Given the description of an element on the screen output the (x, y) to click on. 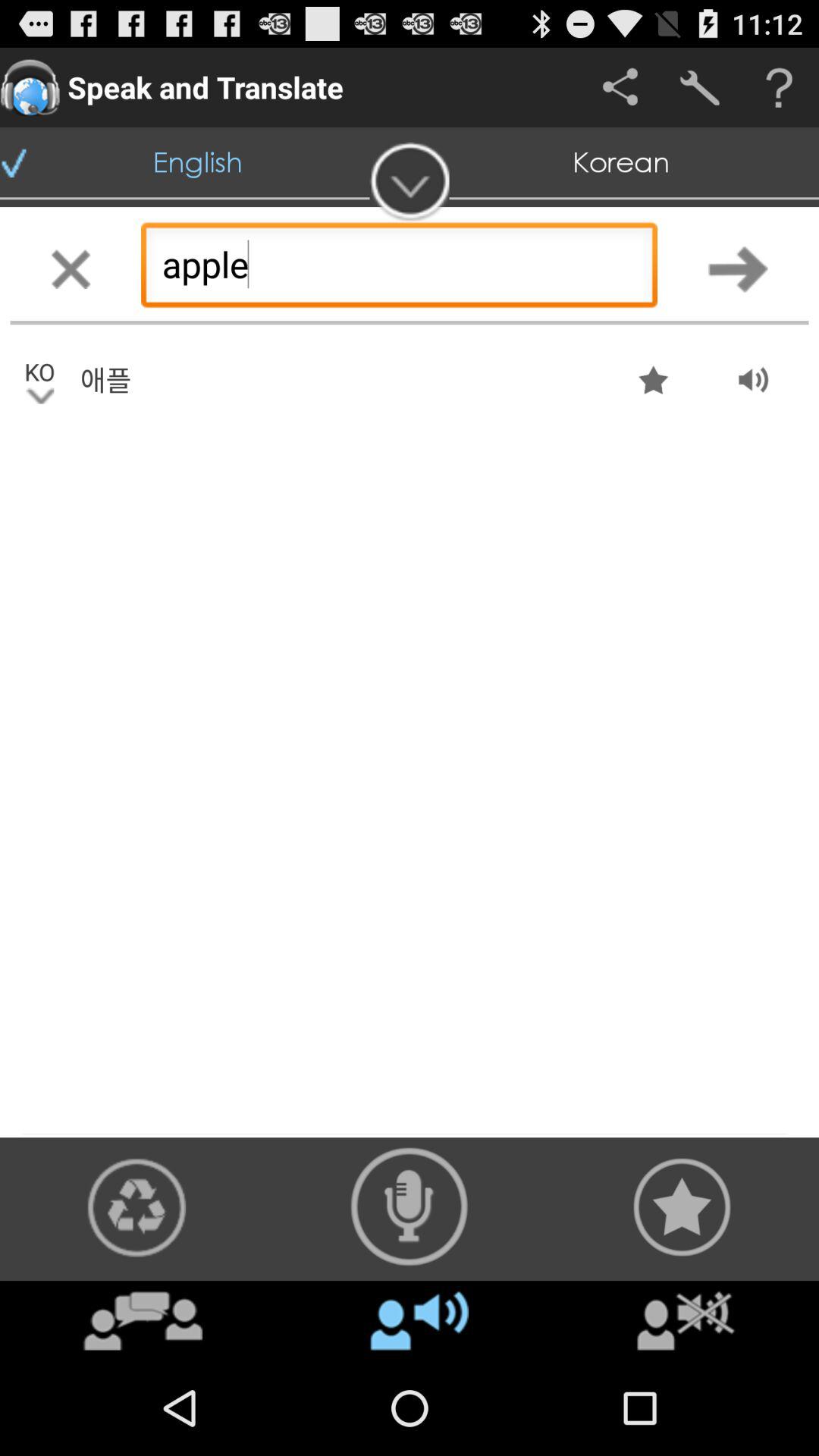
share (619, 87)
